Given the description of an element on the screen output the (x, y) to click on. 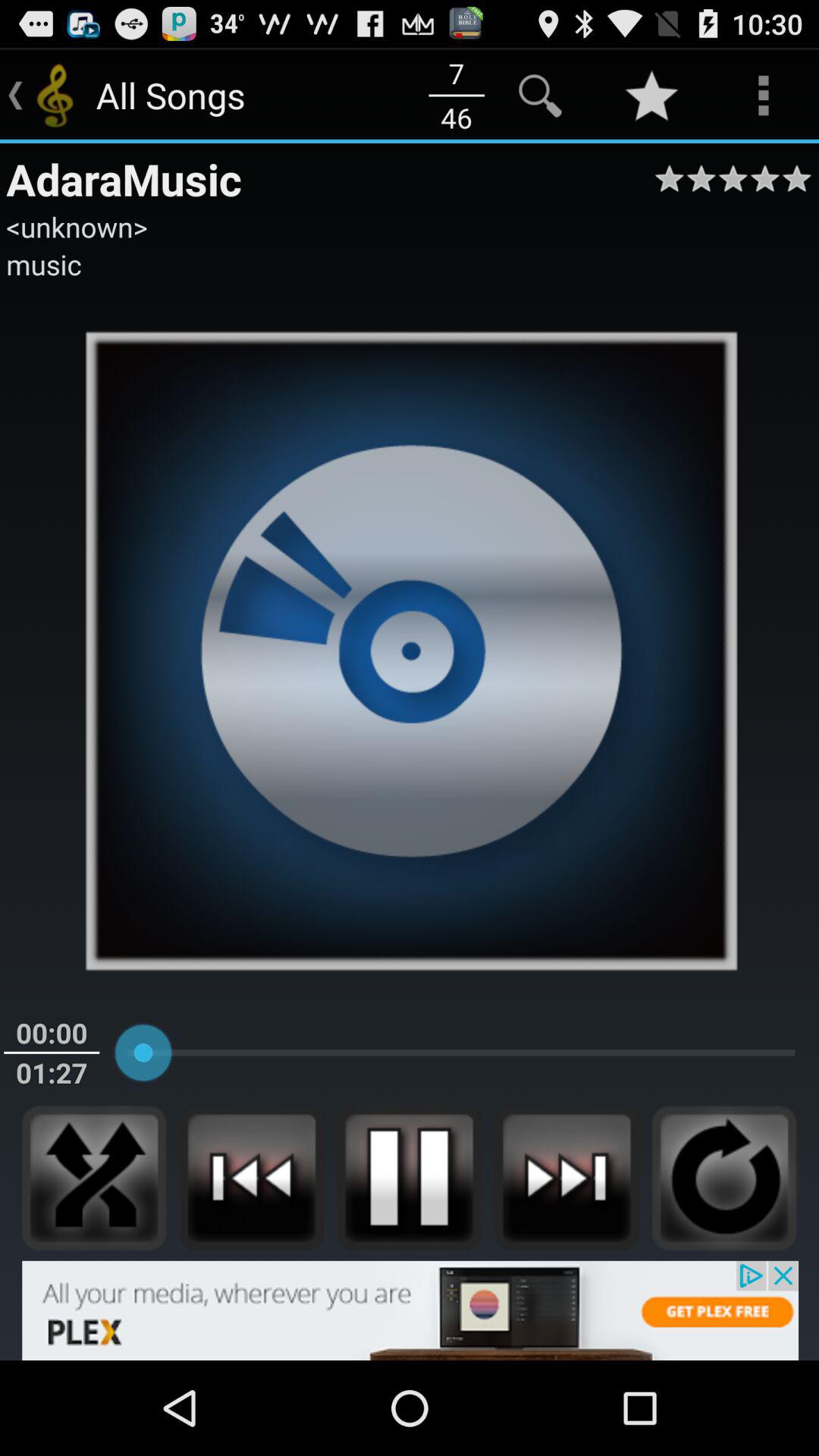
banner advertisement (409, 1310)
